Given the description of an element on the screen output the (x, y) to click on. 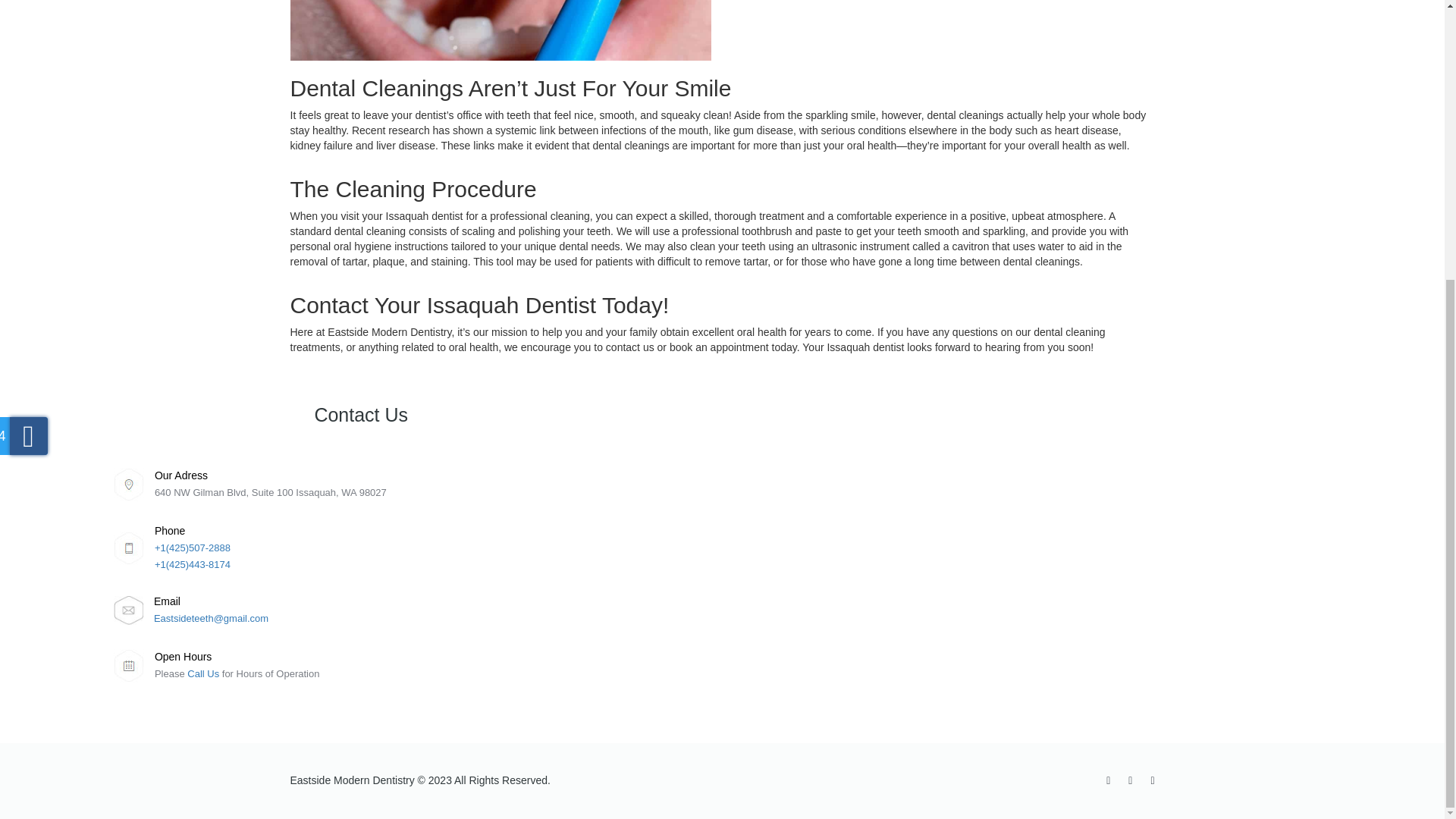
Email (167, 601)
Call Us (204, 673)
Phone (169, 530)
Open Hours (182, 656)
Our Adress (181, 475)
